Given the description of an element on the screen output the (x, y) to click on. 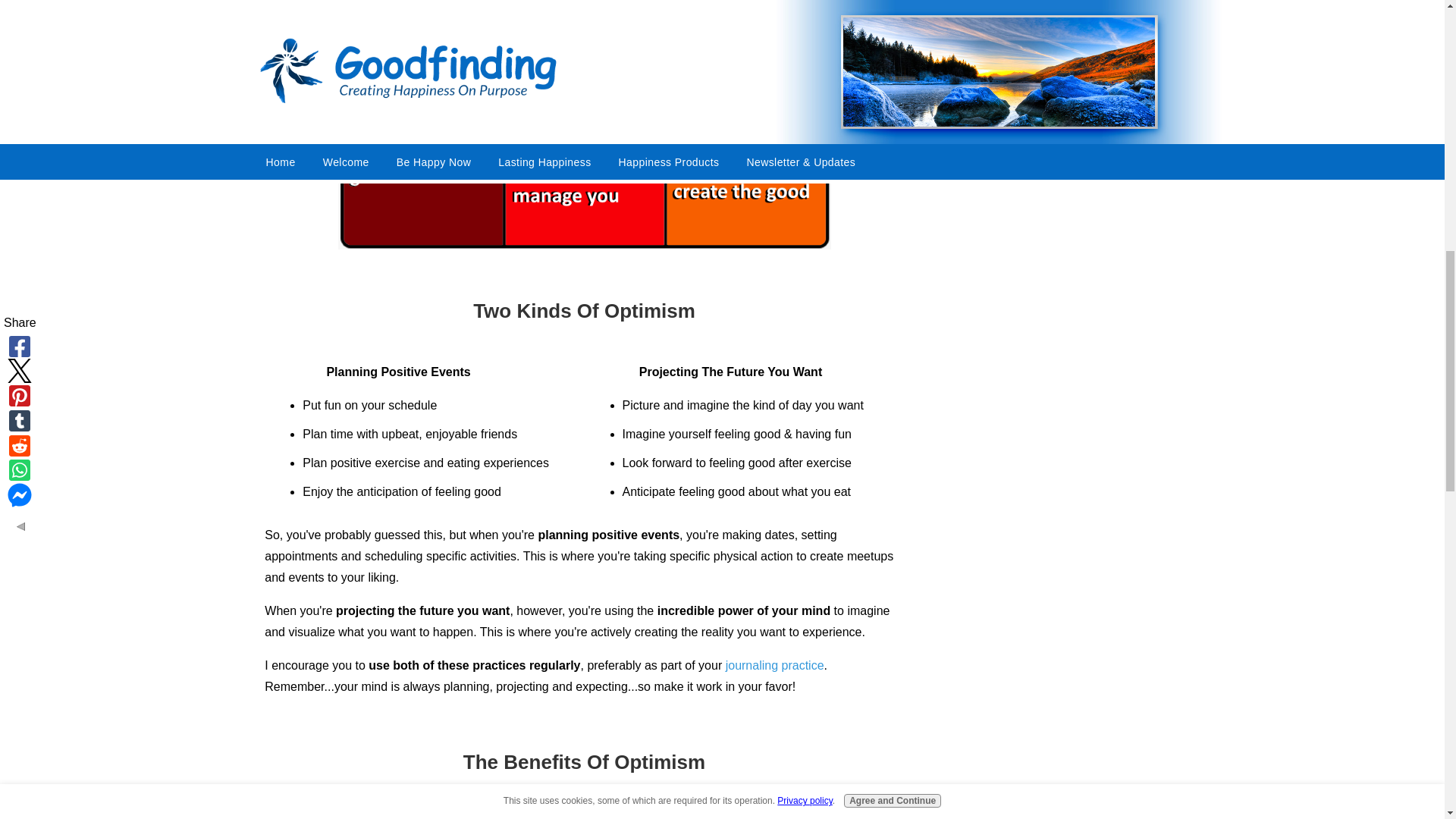
Benefits Of Optimism (584, 124)
journaling practice (774, 665)
